Given the description of an element on the screen output the (x, y) to click on. 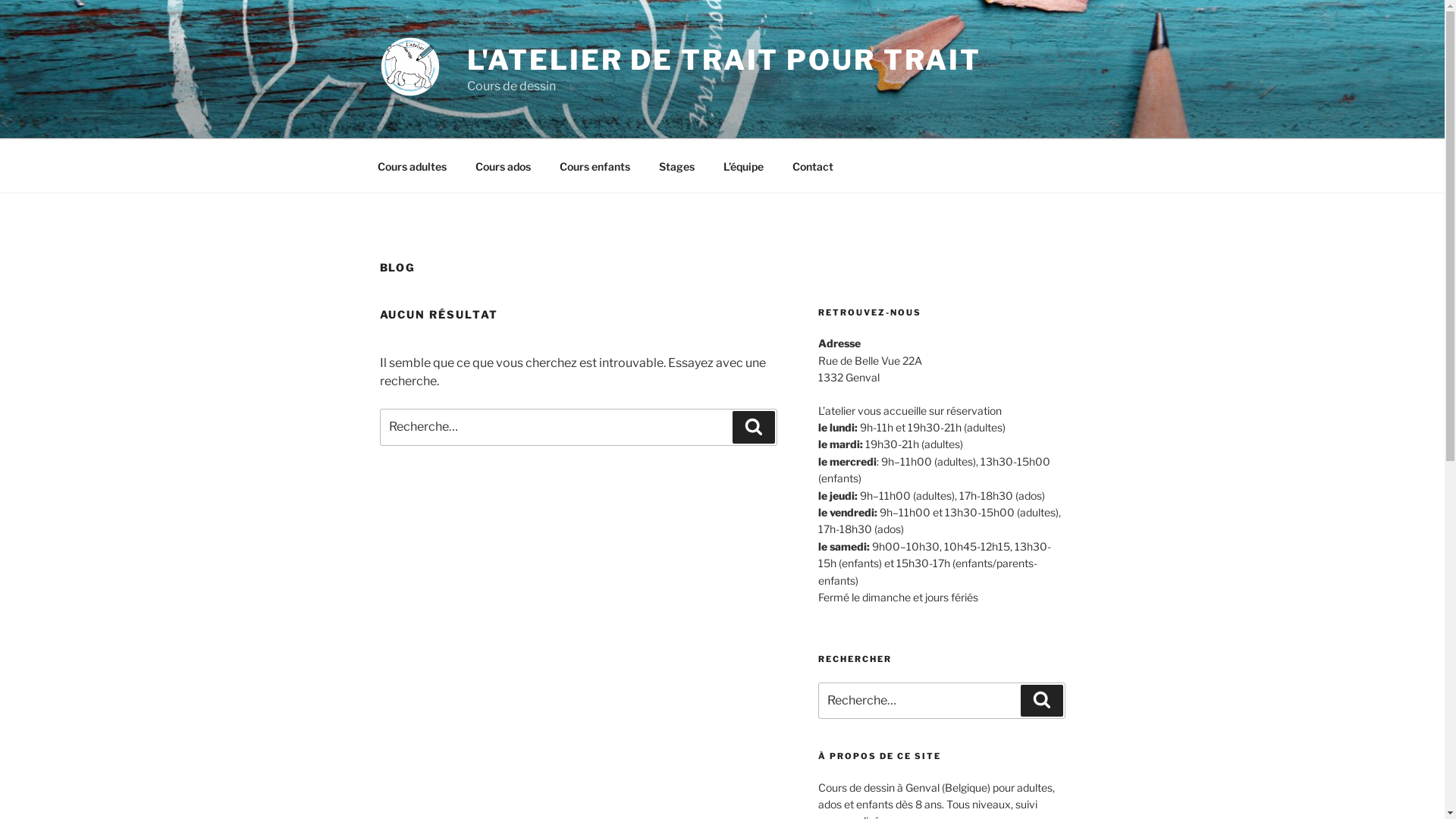
Recherche Element type: text (1041, 700)
Stages Element type: text (677, 165)
Cours enfants Element type: text (594, 165)
Contact Element type: text (813, 165)
Cours adultes Element type: text (411, 165)
Recherche Element type: text (753, 426)
L'ATELIER DE TRAIT POUR TRAIT Element type: text (724, 59)
Cours ados Element type: text (503, 165)
